Given the description of an element on the screen output the (x, y) to click on. 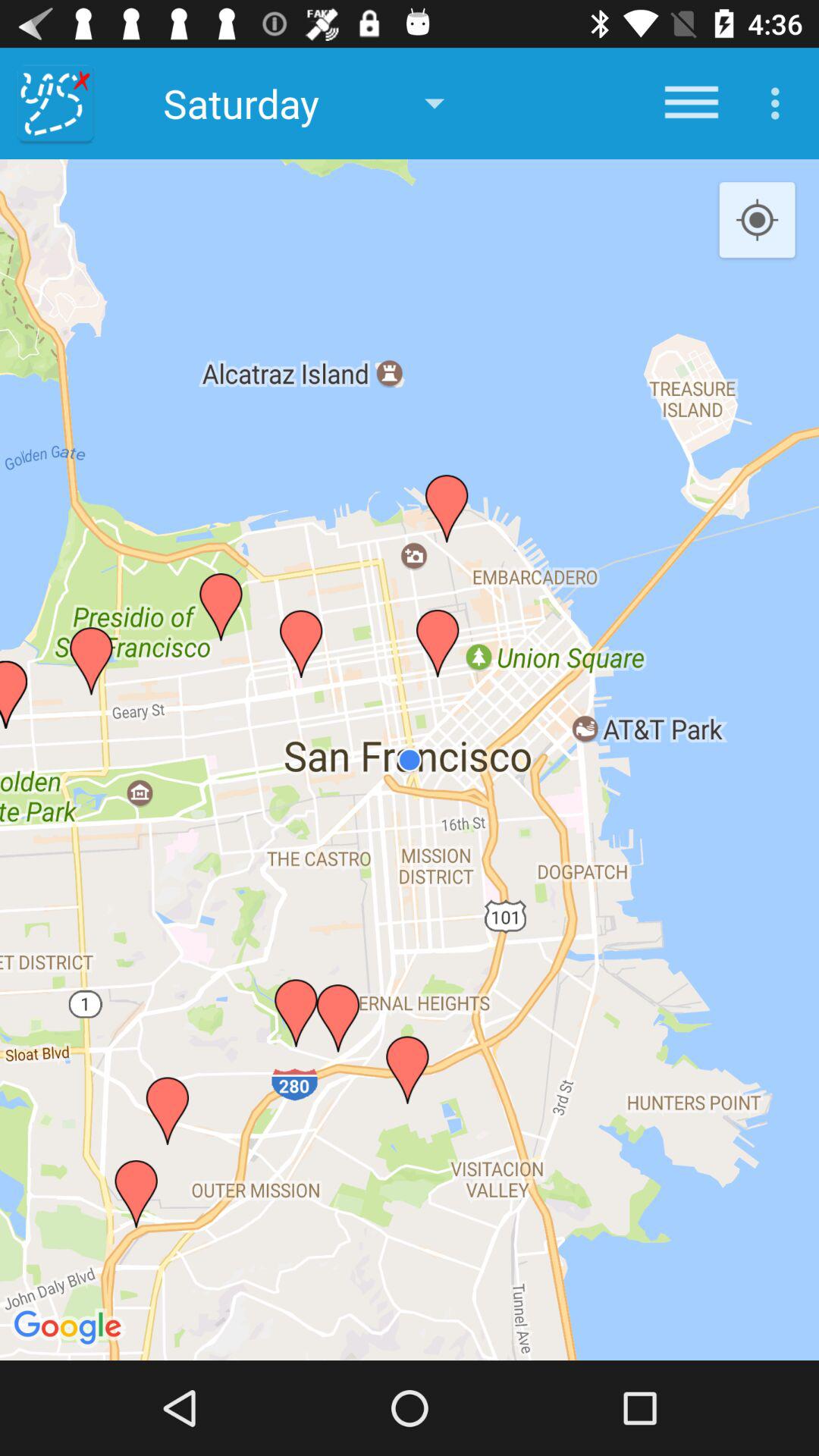
click the item next to saturday item (55, 103)
